Given the description of an element on the screen output the (x, y) to click on. 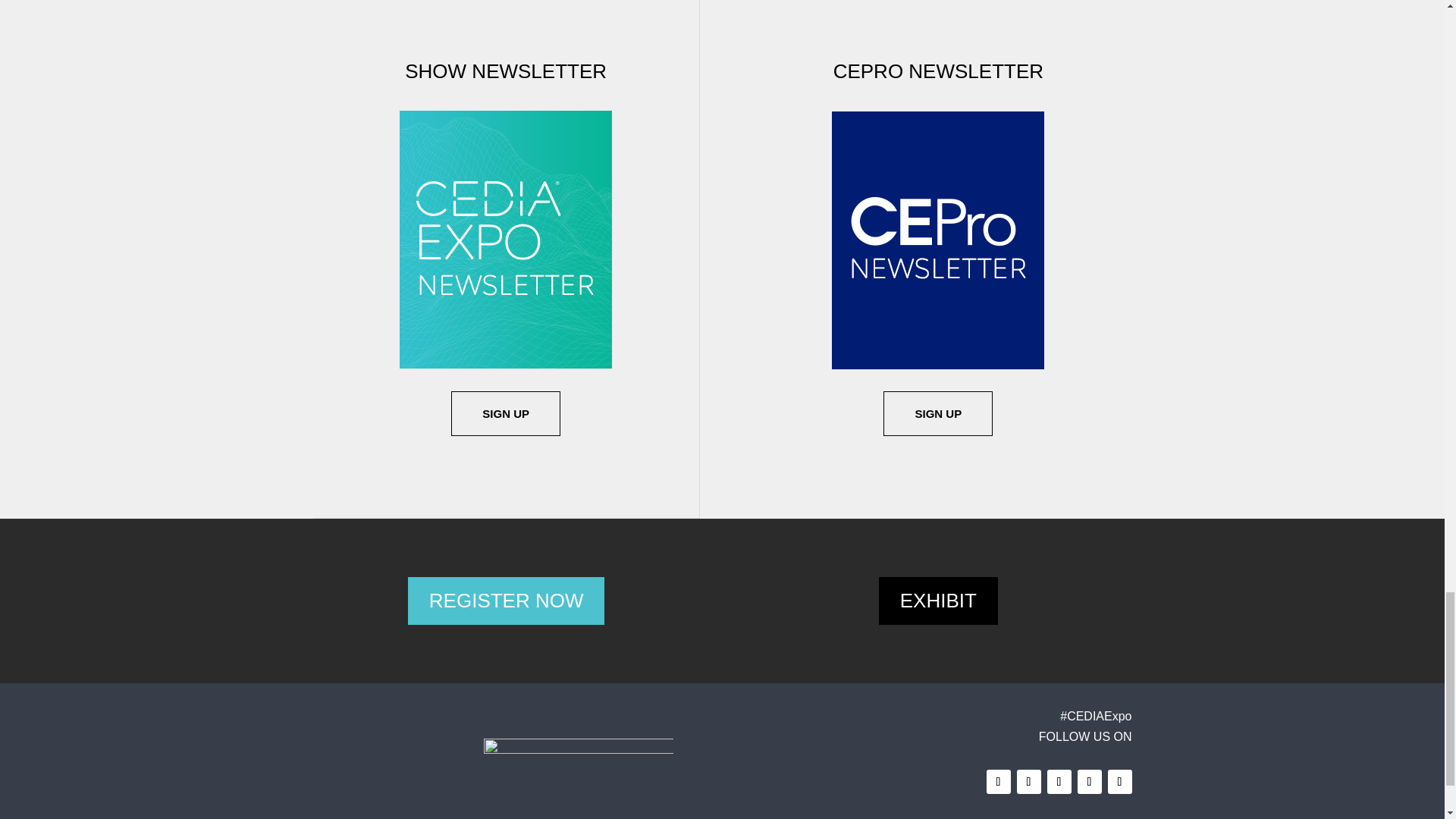
footer-logo-white (577, 752)
Follow on Youtube (1088, 781)
Follow on X (1028, 781)
Follow on Facebook (997, 781)
Follow on LinkedIn (1118, 781)
Follow on Instagram (1058, 781)
